Given the description of an element on the screen output the (x, y) to click on. 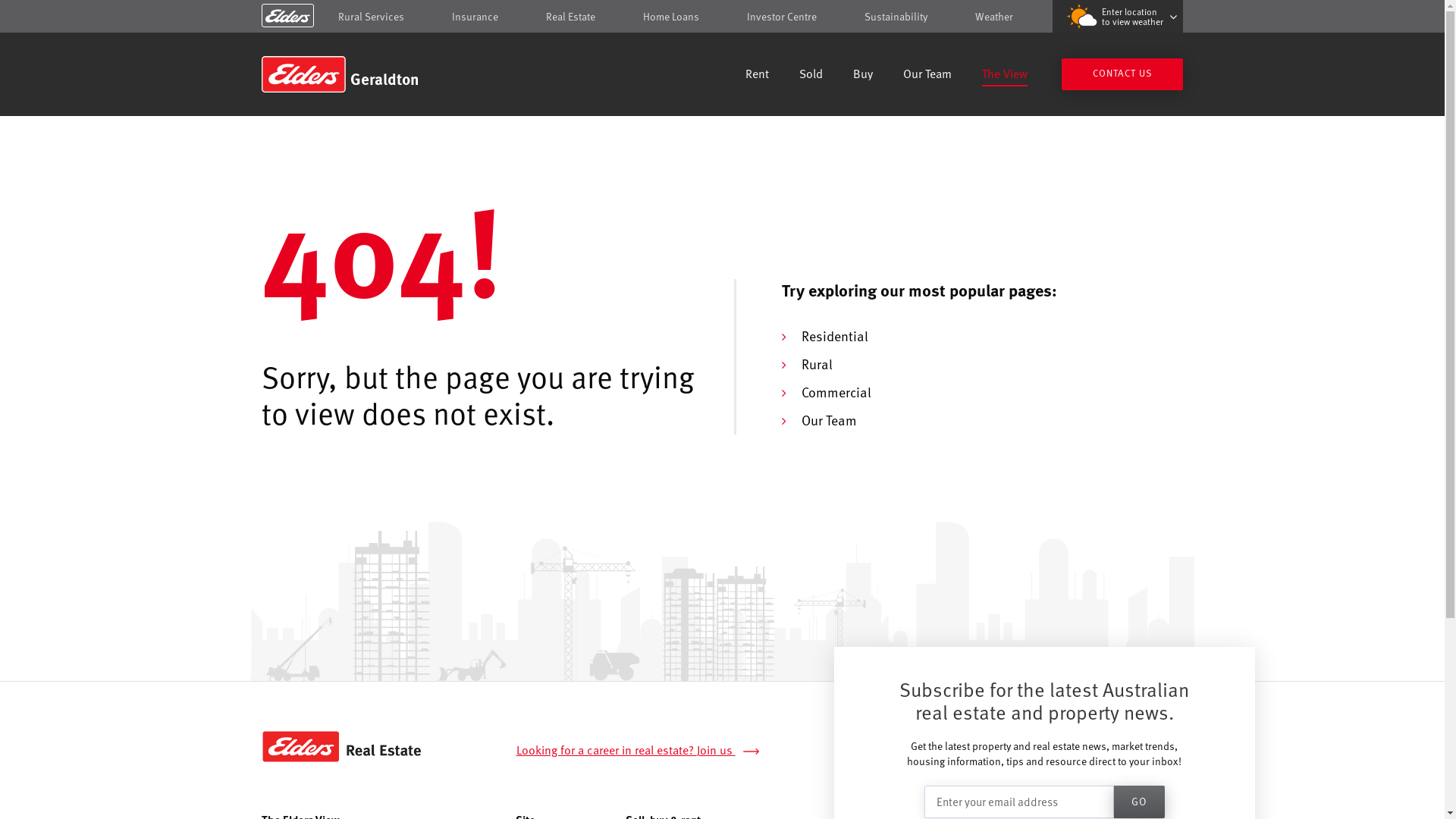
The View Element type: text (1004, 75)
Our Team Element type: text (927, 75)
Residential Element type: text (833, 335)
Enter location to view weather Element type: text (1117, 16)
Go Element type: text (1138, 801)
CONTACT US Element type: text (1122, 74)
Commercial Element type: text (835, 391)
Skip to content Element type: text (722, 17)
Insurance Element type: text (474, 16)
Sold Element type: text (810, 75)
Real Estate Element type: text (570, 16)
Sustainability Element type: text (895, 16)
Home Loans Element type: text (671, 16)
Looking for a career in real estate? Join us Element type: text (645, 750)
Geraldton Element type: text (369, 74)
Weather Element type: text (994, 16)
Rural Services Element type: text (371, 16)
Investor Centre Element type: text (781, 16)
Our Team Element type: text (828, 419)
Rent Element type: text (756, 75)
Rural Element type: text (815, 363)
Buy Element type: text (862, 75)
